Given the description of an element on the screen output the (x, y) to click on. 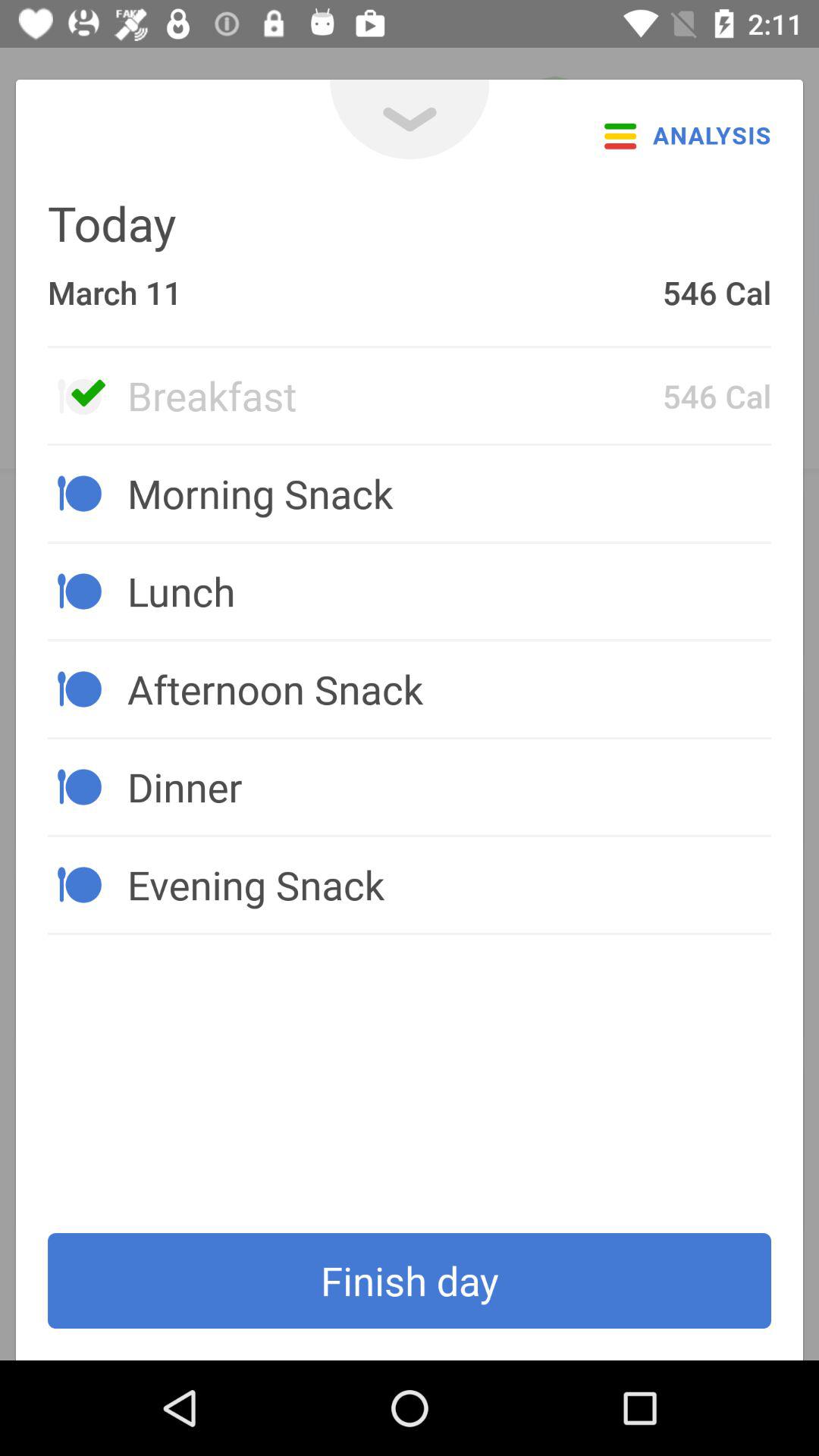
go to menu (409, 119)
